Given the description of an element on the screen output the (x, y) to click on. 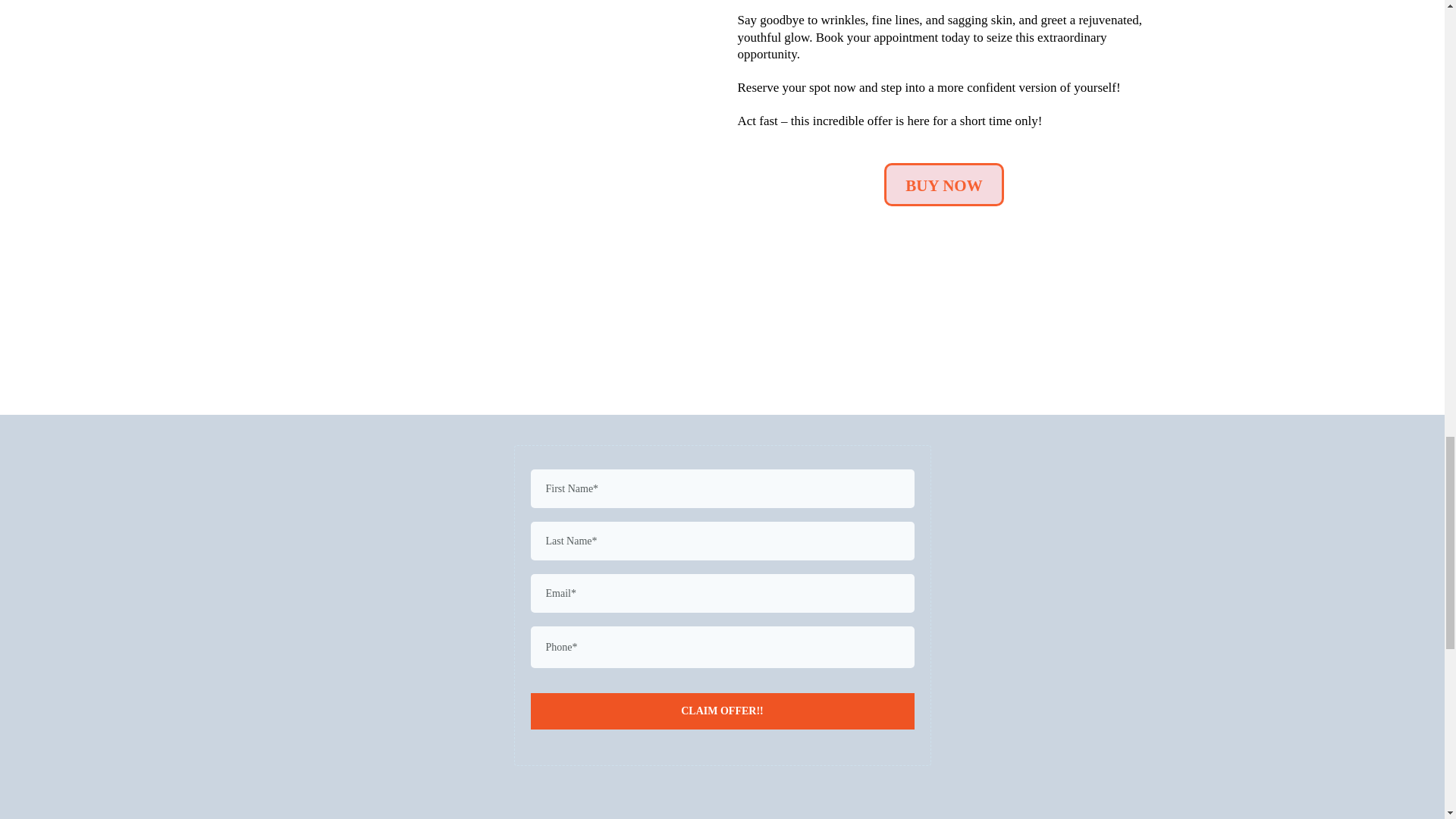
CLAIM OFFER!! (722, 710)
BUY NOW (943, 184)
